Given the description of an element on the screen output the (x, y) to click on. 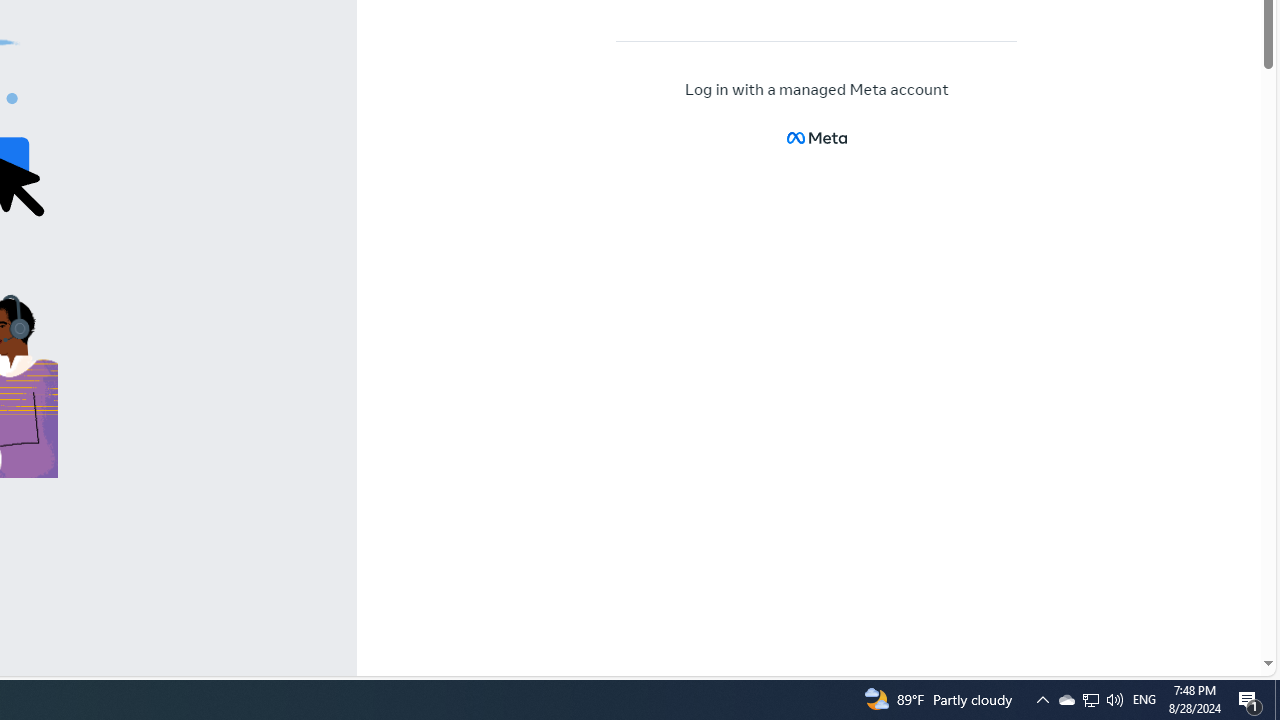
Meta logo (816, 137)
Log in with a managed Meta account (817, 90)
